Given the description of an element on the screen output the (x, y) to click on. 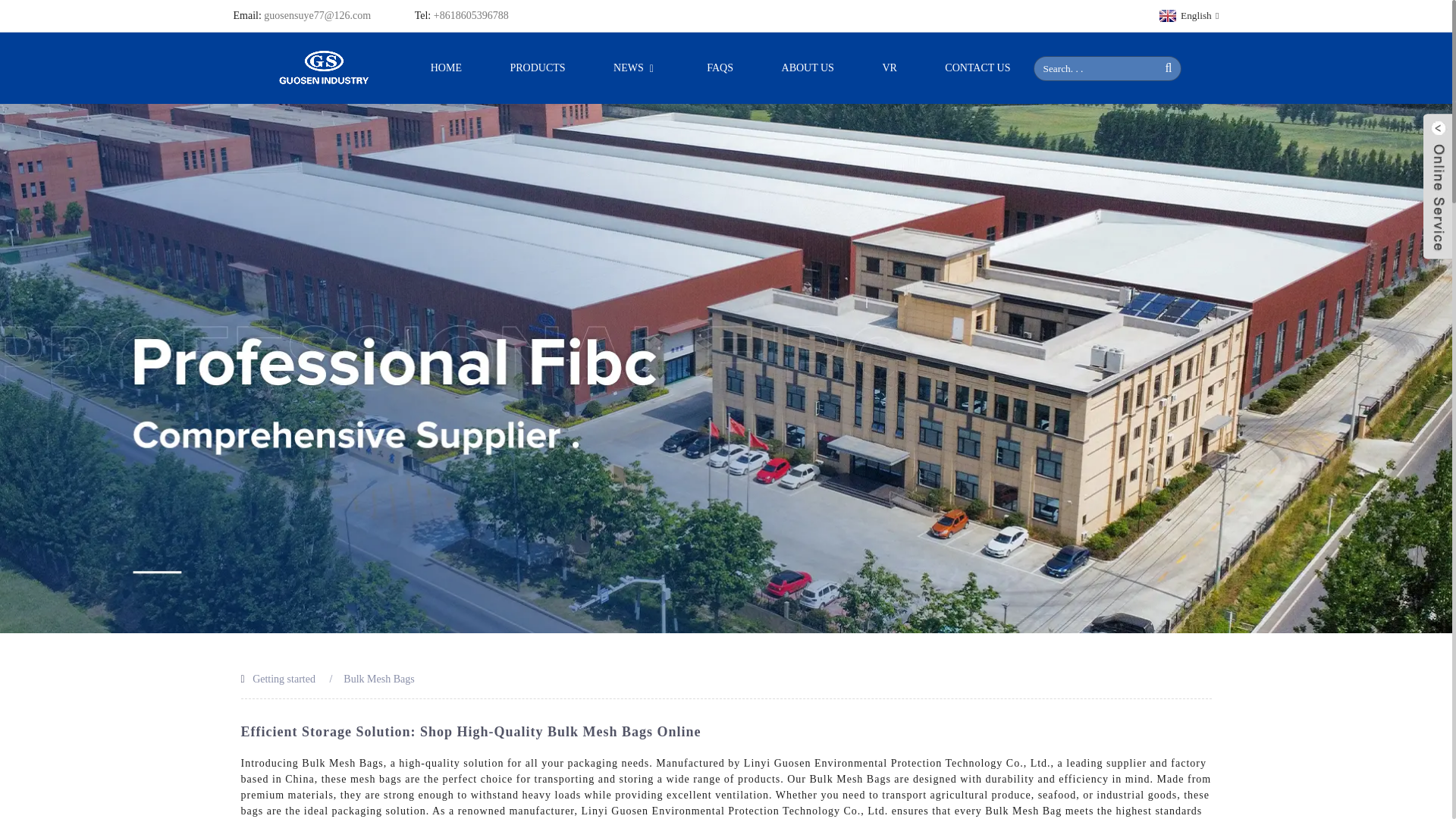
Getting started (283, 678)
CONTACT US (977, 68)
English (1187, 15)
Bulk Mesh Bags (378, 678)
